Given the description of an element on the screen output the (x, y) to click on. 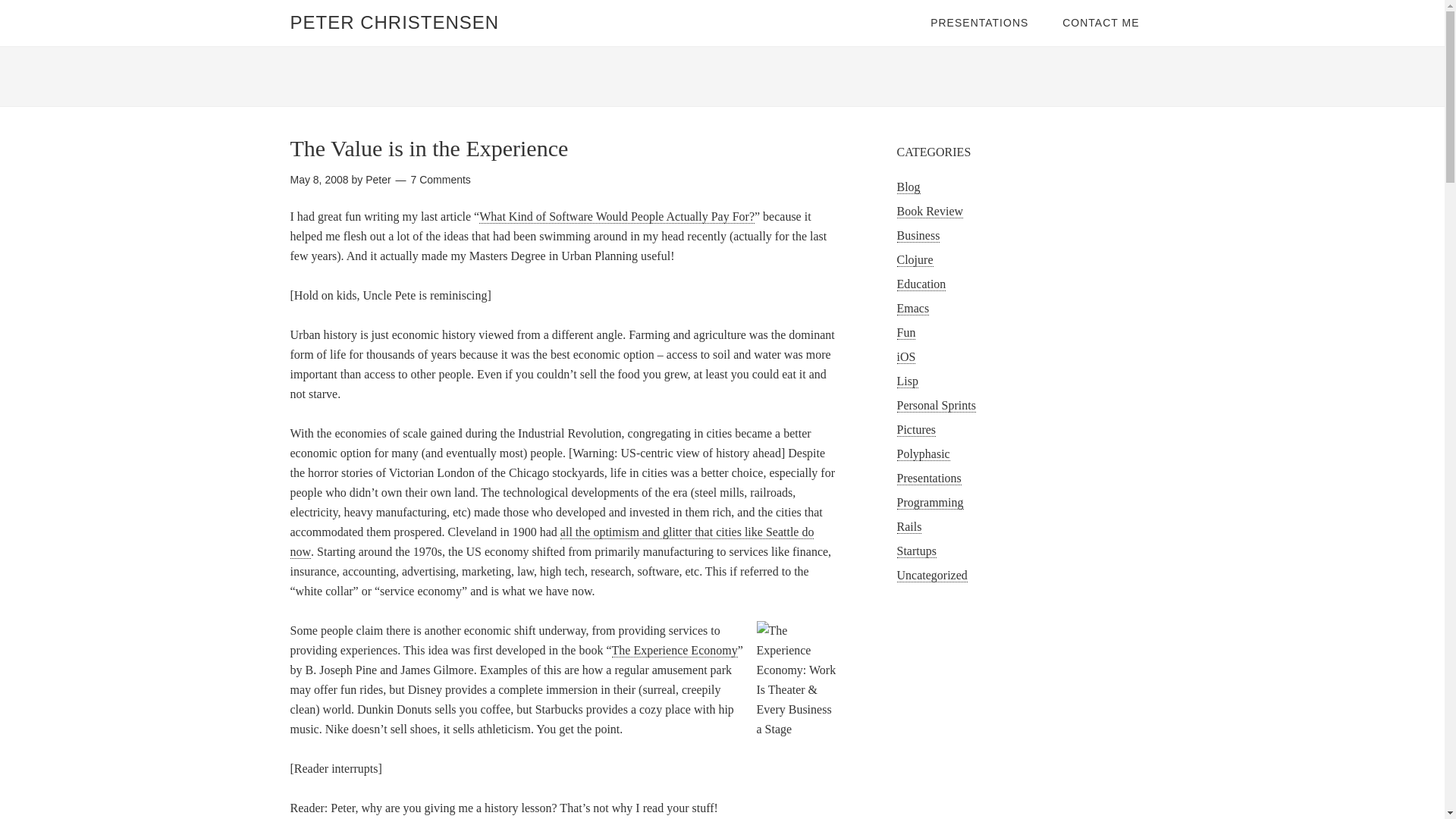
Business (917, 235)
The Experience Economy (674, 650)
Peter (377, 179)
Fun (905, 332)
Emacs (912, 308)
7 Comments (440, 179)
PRESENTATIONS (979, 22)
PETER CHRISTENSEN (394, 22)
Book Review (929, 211)
Education (920, 284)
